Given the description of an element on the screen output the (x, y) to click on. 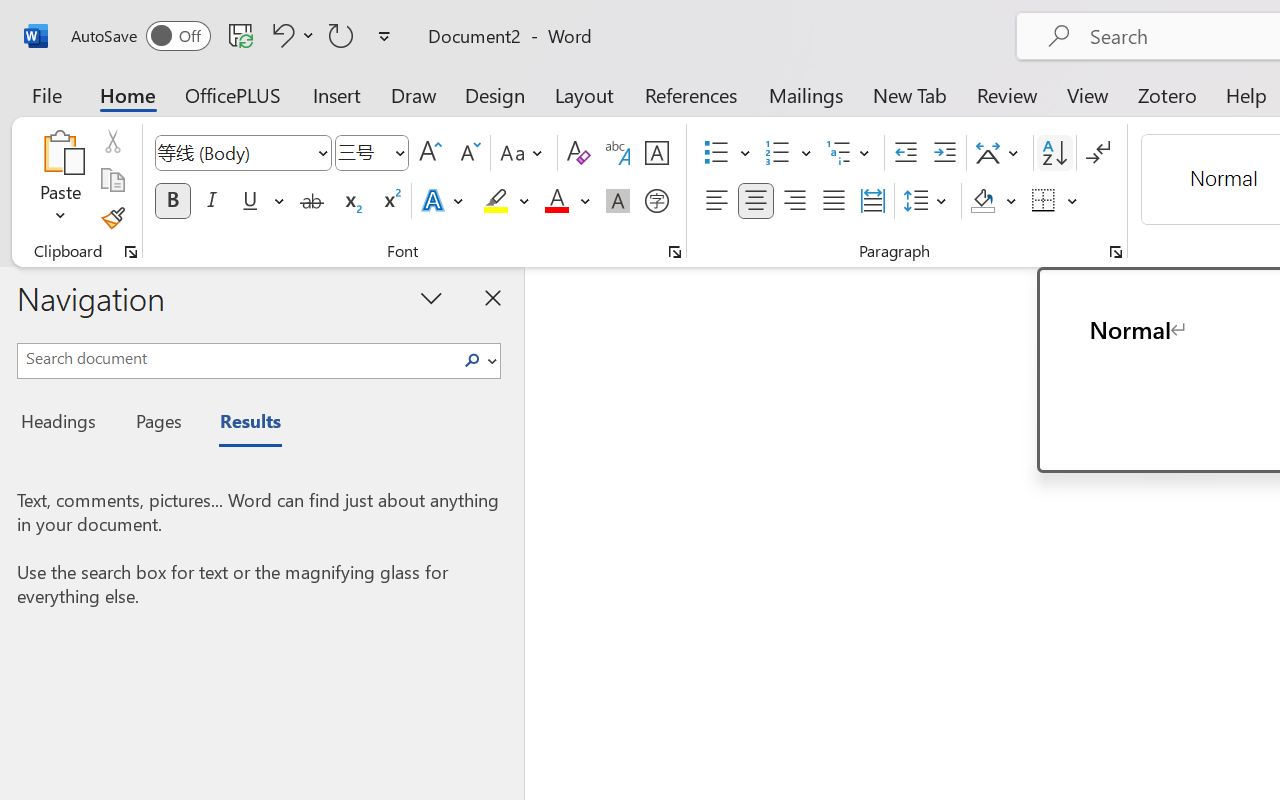
Strikethrough (312, 201)
Format Painter (112, 218)
Search (478, 360)
Text Highlight Color Yellow (495, 201)
Paragraph... (1115, 252)
Align Right (794, 201)
Subscript (350, 201)
Open (399, 152)
Change Case (524, 153)
Shading (993, 201)
Asian Layout (1000, 153)
Character Border (656, 153)
Superscript (390, 201)
